Given the description of an element on the screen output the (x, y) to click on. 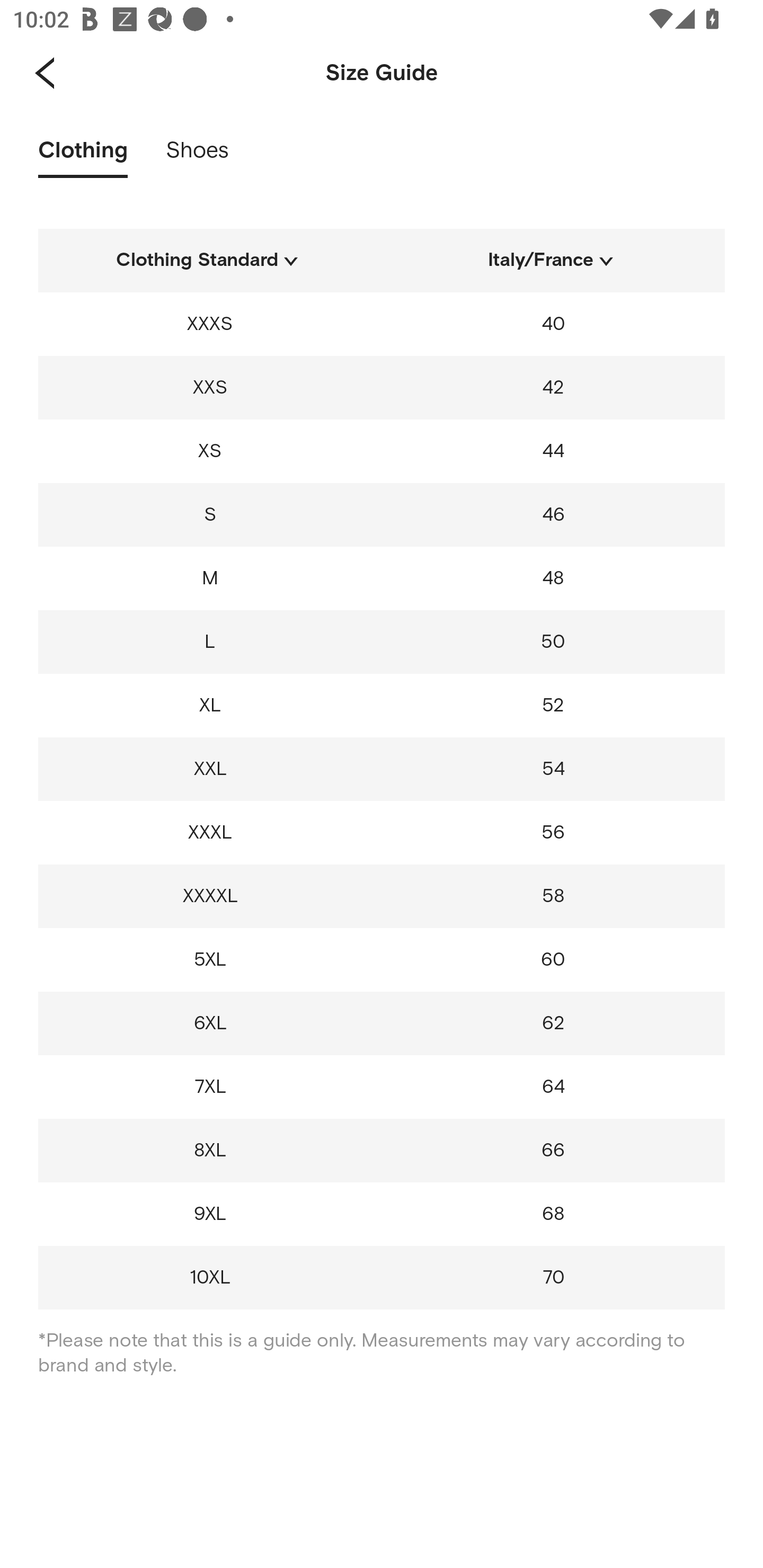
Clothing (82, 155)
Shoes (197, 155)
Clothing Standard (209, 263)
Italy/France (552, 263)
